Given the description of an element on the screen output the (x, y) to click on. 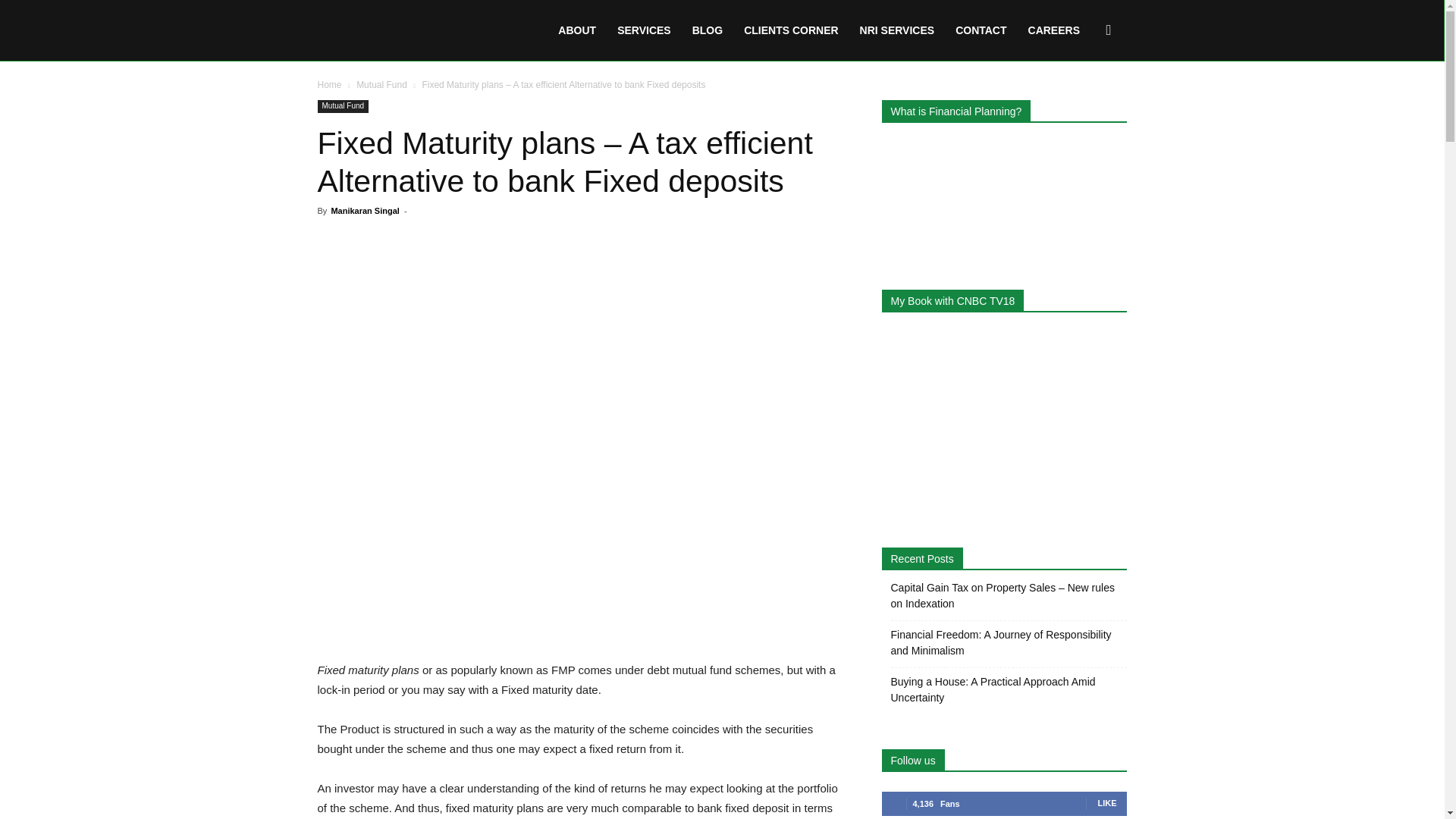
ABOUT (577, 30)
Search (1085, 102)
View all posts in Mutual Fund (381, 84)
SERVICES (644, 30)
CLIENTS CORNER (790, 30)
